Given the description of an element on the screen output the (x, y) to click on. 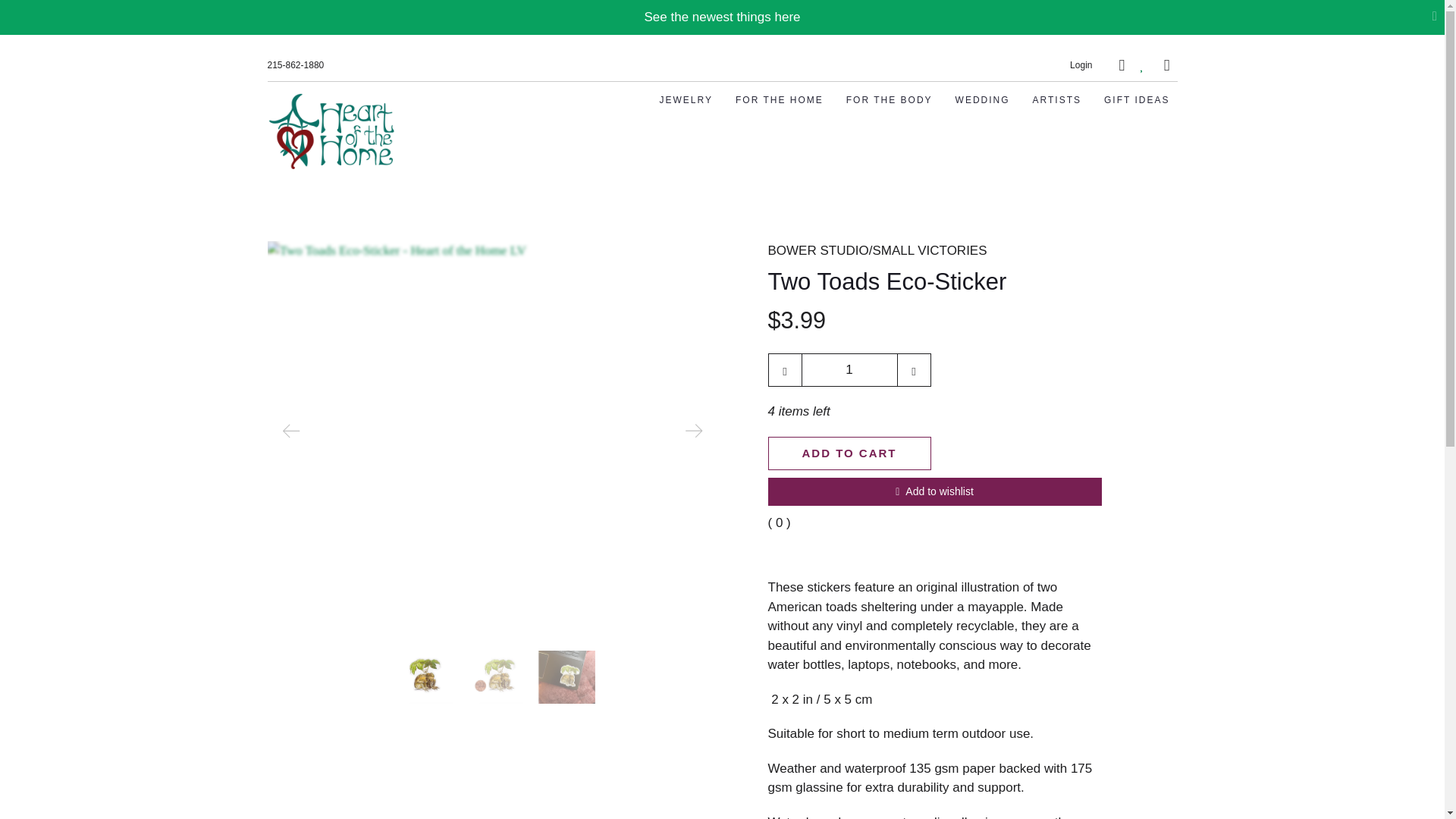
See the newest things here (721, 17)
FOR THE HOME (779, 99)
215-862-1880 (294, 65)
1 (848, 369)
GIFT IDEAS (1136, 99)
WEDDING (982, 99)
ARTISTS (1057, 99)
Login (1081, 64)
FOR THE BODY (889, 99)
My Account  (1081, 64)
